Given the description of an element on the screen output the (x, y) to click on. 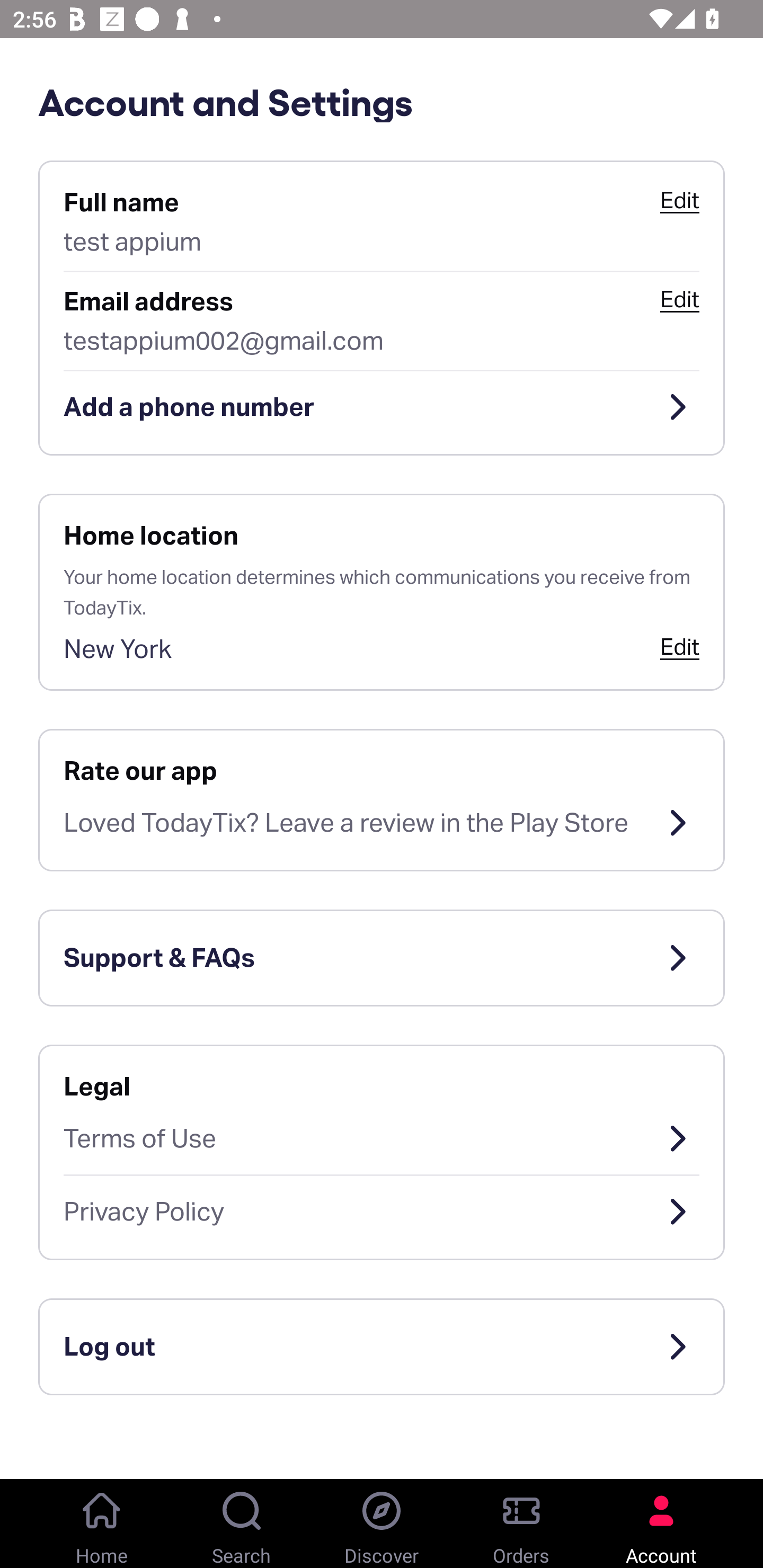
Edit (679, 200)
Edit (679, 299)
Add a phone number (381, 406)
Edit (679, 646)
Loved TodayTix? Leave a review in the Play Store (381, 822)
Support & FAQs (381, 957)
Terms of Use (381, 1137)
Privacy Policy (381, 1211)
Log out (381, 1346)
Home (101, 1523)
Search (241, 1523)
Discover (381, 1523)
Orders (521, 1523)
